Given the description of an element on the screen output the (x, y) to click on. 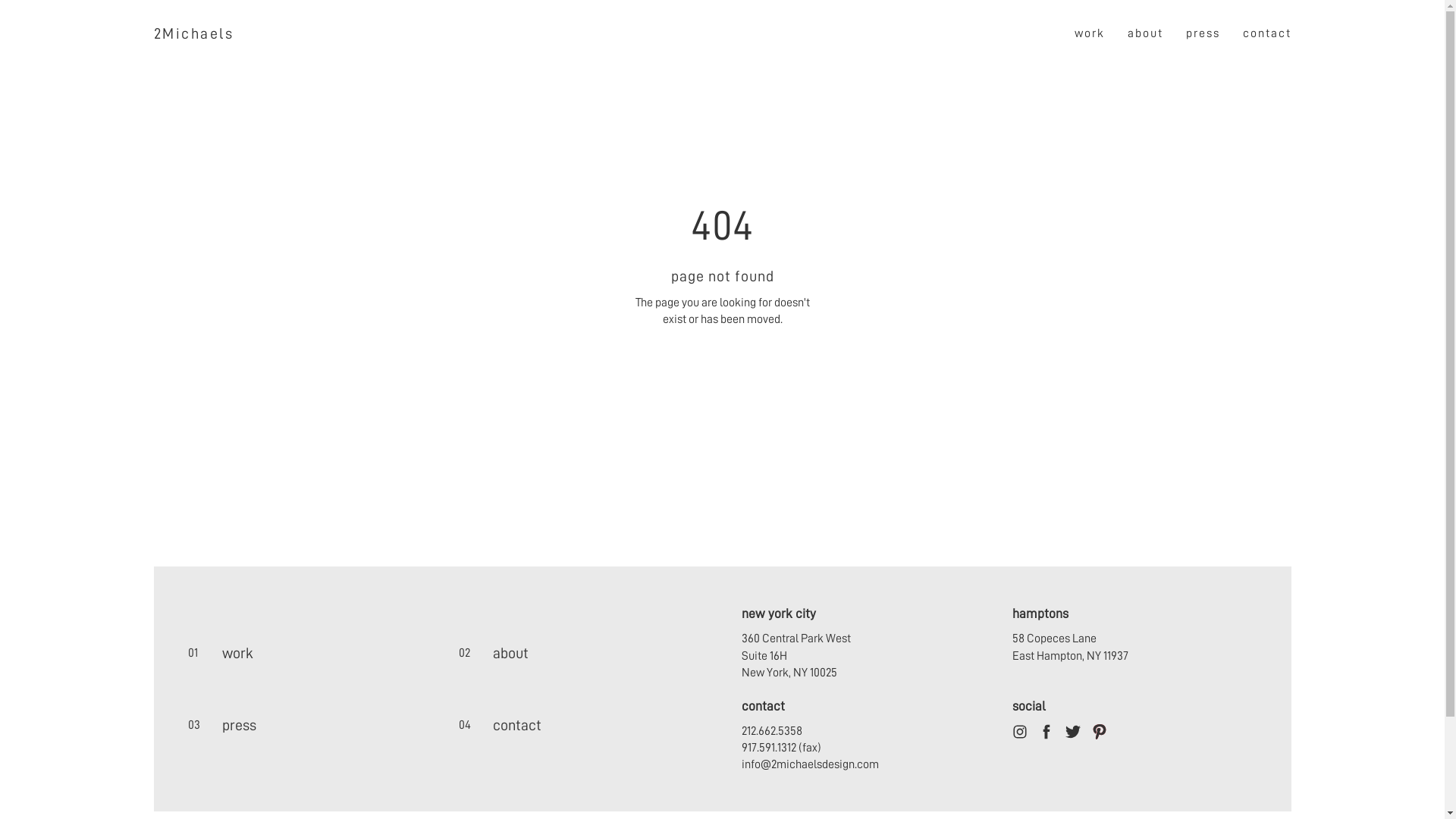
press Element type: text (303, 724)
58 Copeces Lane
East Hampton, NY 11937 Element type: text (1070, 646)
press Element type: text (1203, 33)
about Element type: text (575, 652)
work Element type: text (303, 652)
about Element type: text (1144, 33)
212.662.5358 Element type: text (771, 730)
work Element type: text (1088, 33)
contact Element type: text (575, 724)
info@2michaelsdesign.com Element type: text (809, 764)
360 Central Park West
Suite 16H
New York, NY 10025 Element type: text (795, 655)
2Michaels Element type: text (193, 32)
contact Element type: text (1266, 33)
